Given the description of an element on the screen output the (x, y) to click on. 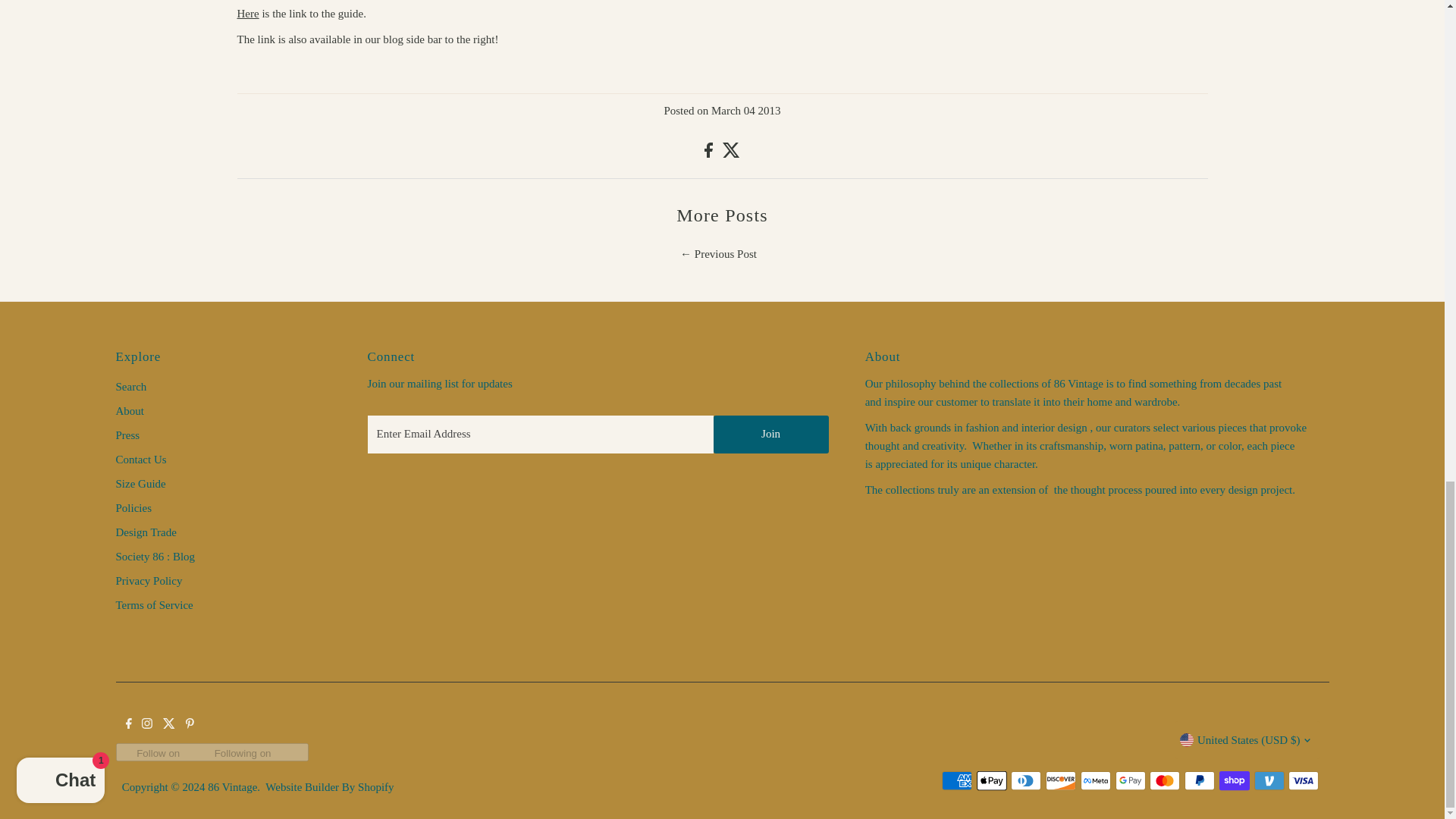
Join (770, 434)
